Given the description of an element on the screen output the (x, y) to click on. 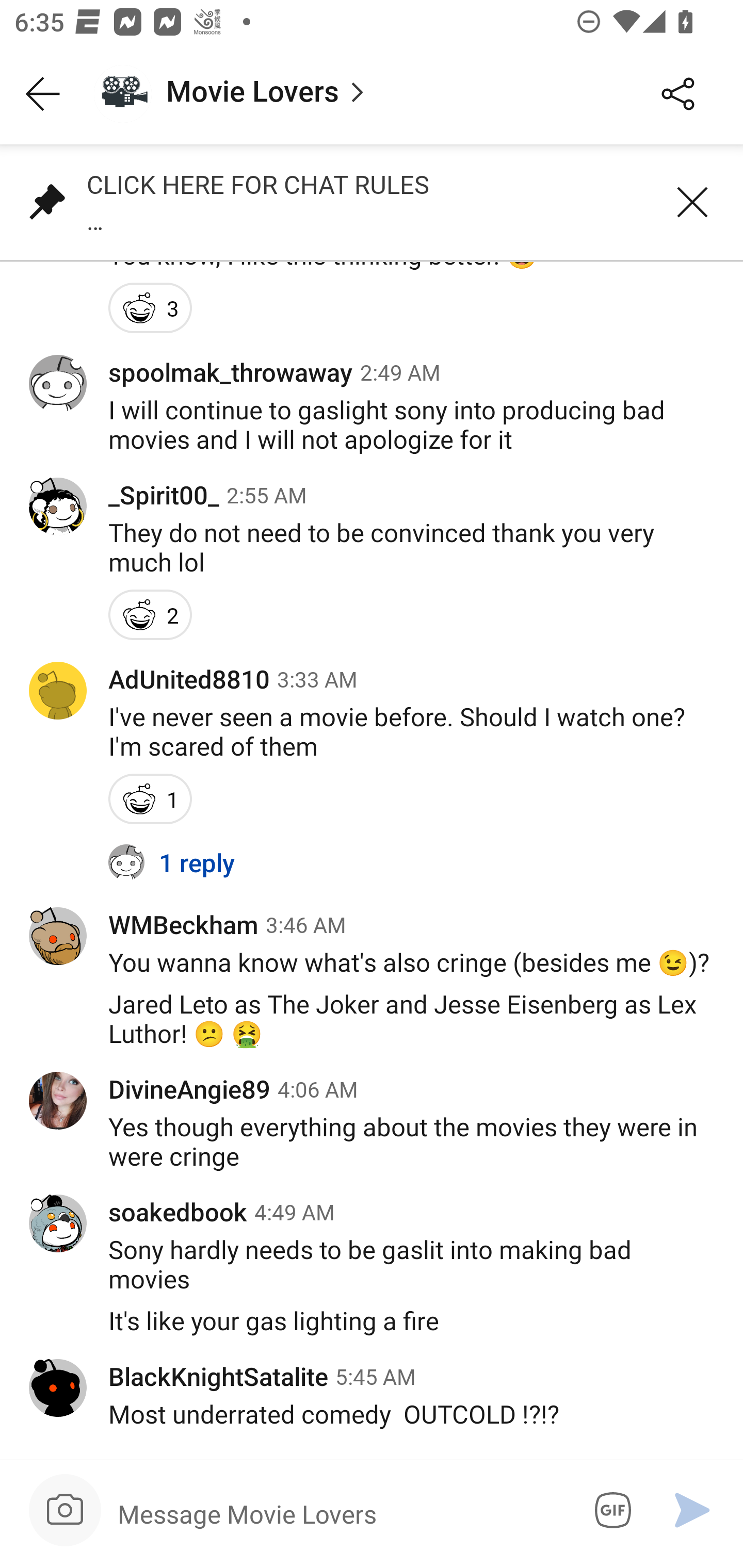
Back (43, 93)
Movie Lovers (353, 93)
Share (677, 93)
It's like your gas lighting a fire (371, 1331)
Upload image (64, 1510)
Add GIF (609, 1510)
Send message (692, 1510)
Message Message Movie Lovers (338, 1513)
